Given the description of an element on the screen output the (x, y) to click on. 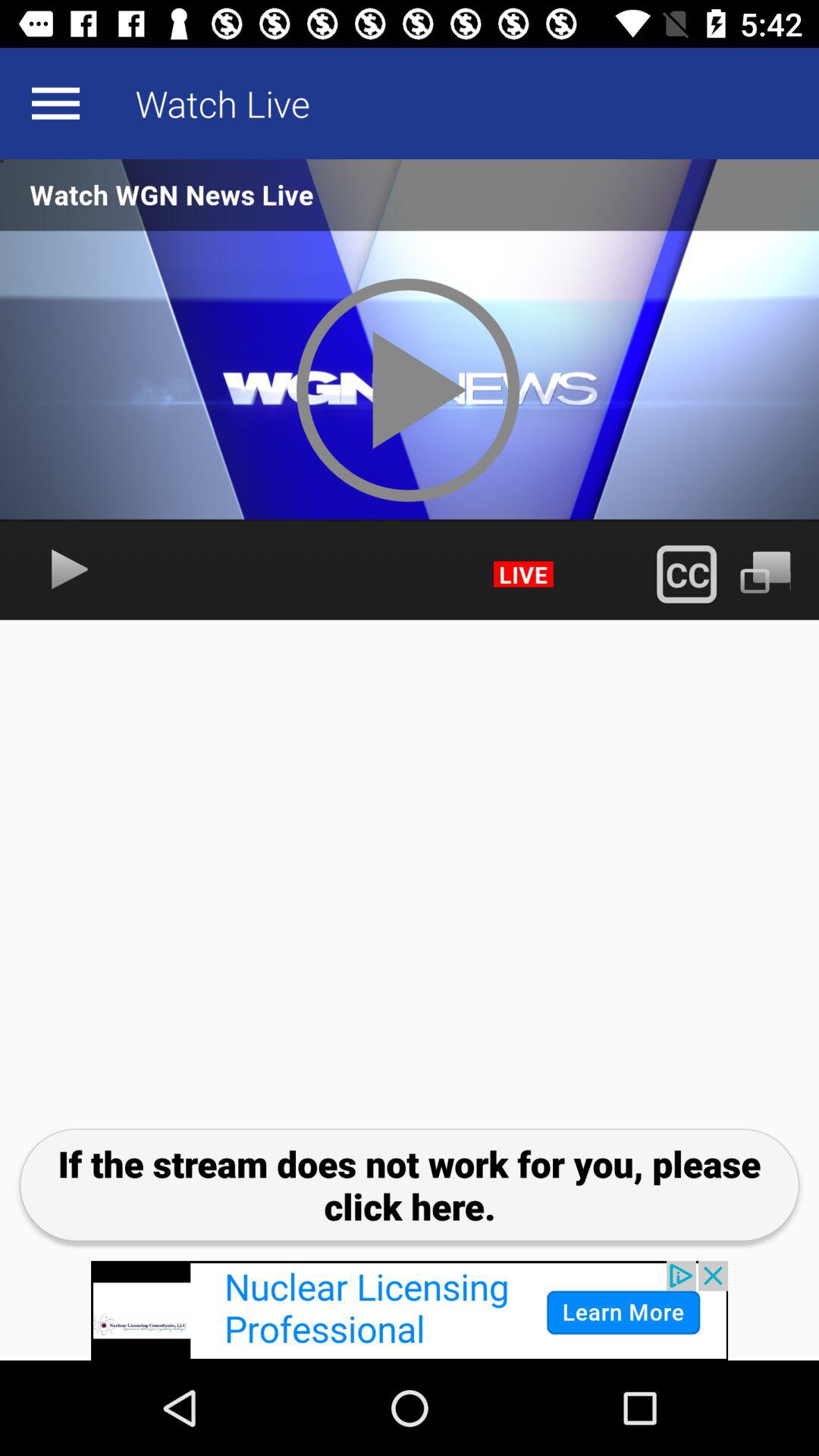
go to manu (55, 103)
